Given the description of an element on the screen output the (x, y) to click on. 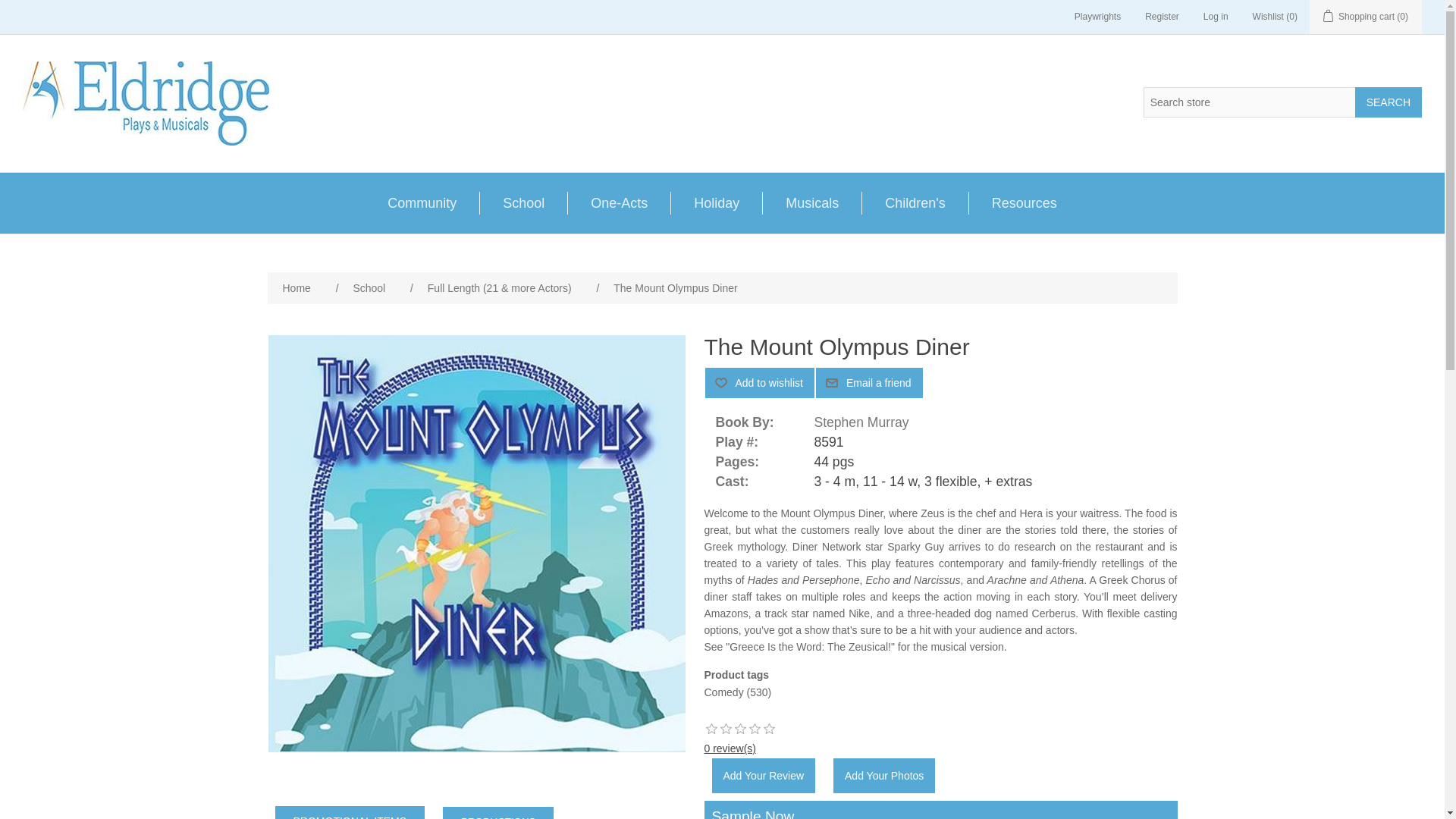
Search (1388, 101)
PROMOTIONAL ITEMS (350, 812)
Email a friend (869, 382)
School (523, 202)
One-Acts (619, 202)
Musicals (811, 202)
Log in (1216, 17)
Children's (914, 202)
Search (1388, 101)
Register (1161, 17)
Playwrights (1097, 17)
Add to wishlist (758, 382)
Holiday (715, 202)
Community (422, 202)
